Given the description of an element on the screen output the (x, y) to click on. 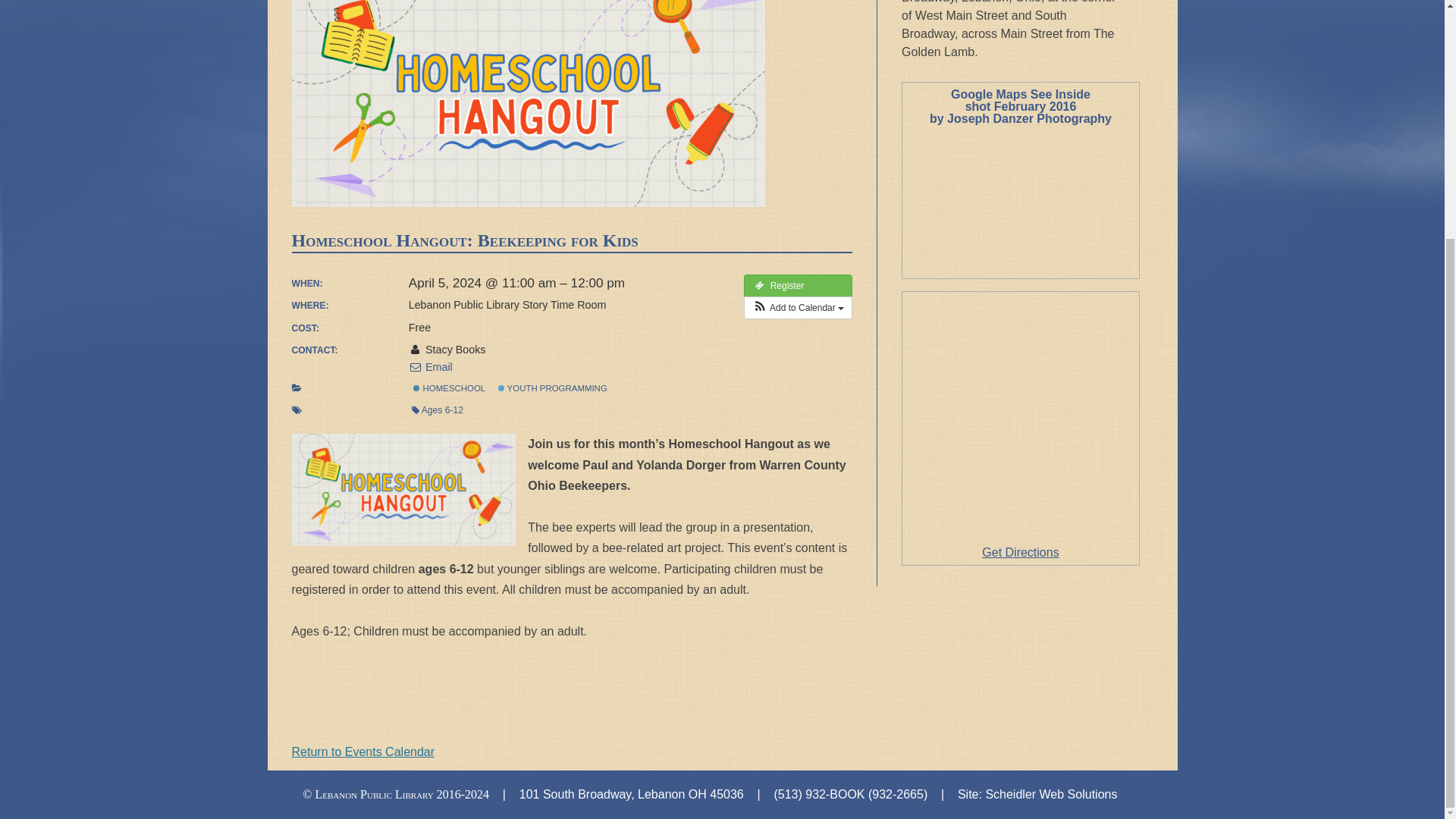
Categories (296, 388)
Tags (296, 409)
Get Directions (1019, 552)
YOUTH PROGRAMMING (552, 388)
Site: Scheidler Web Solutions (1037, 793)
HOMESCHOOL (449, 388)
Return to Events Calendar (362, 751)
Ages 6-12 (437, 410)
Register (797, 285)
